Given the description of an element on the screen output the (x, y) to click on. 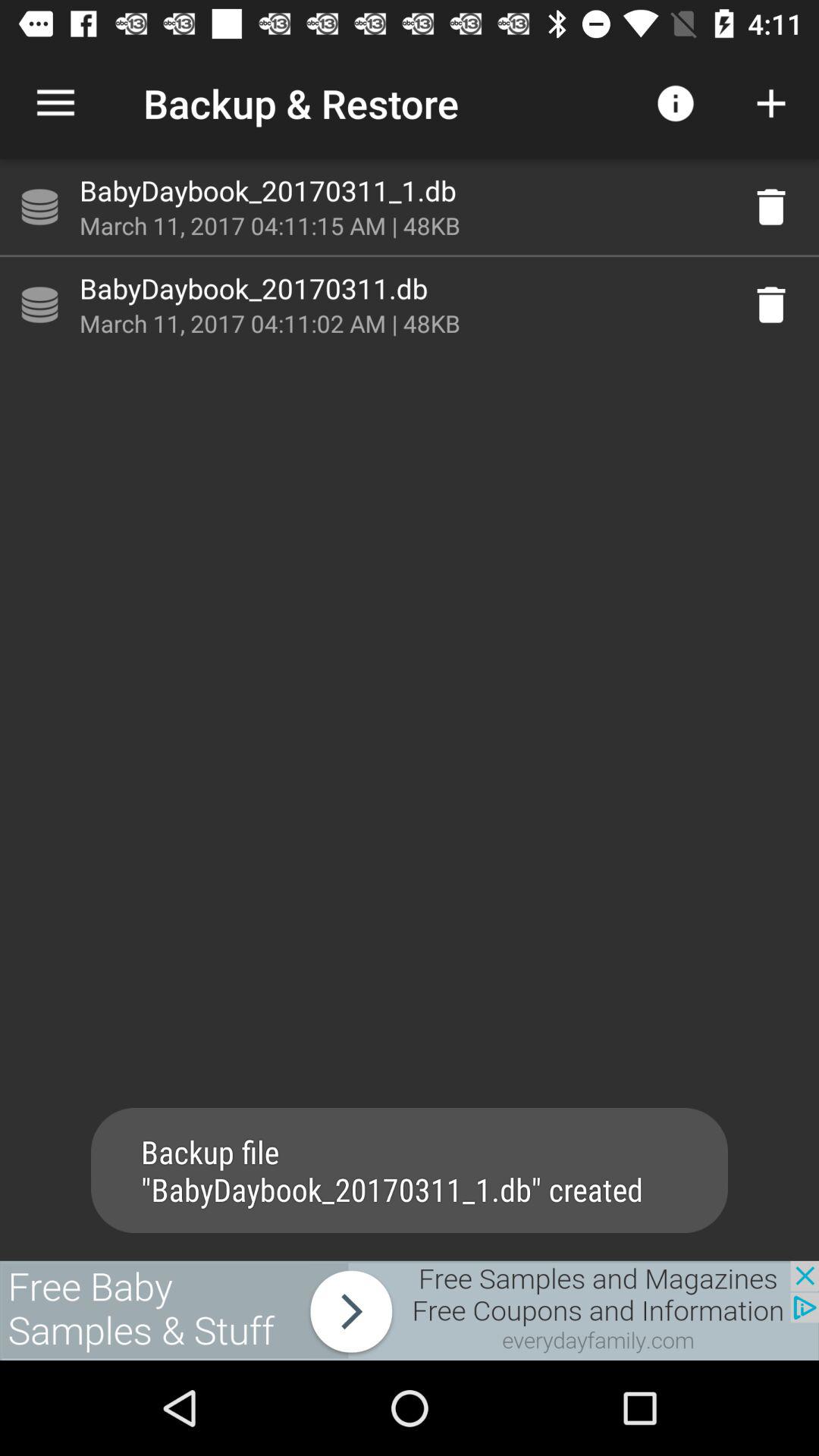
delete button (771, 304)
